Given the description of an element on the screen output the (x, y) to click on. 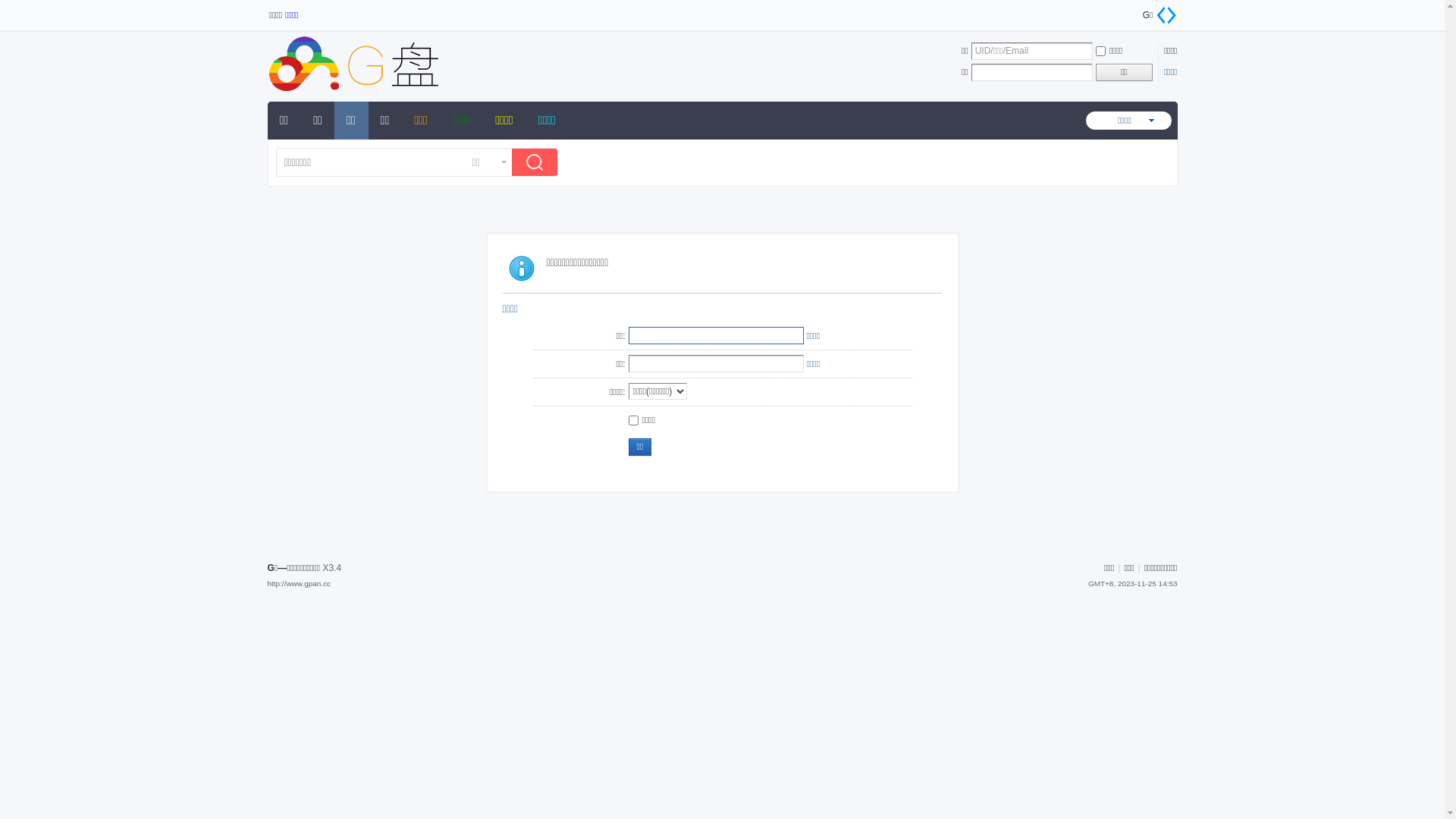
true Element type: text (537, 163)
